Given the description of an element on the screen output the (x, y) to click on. 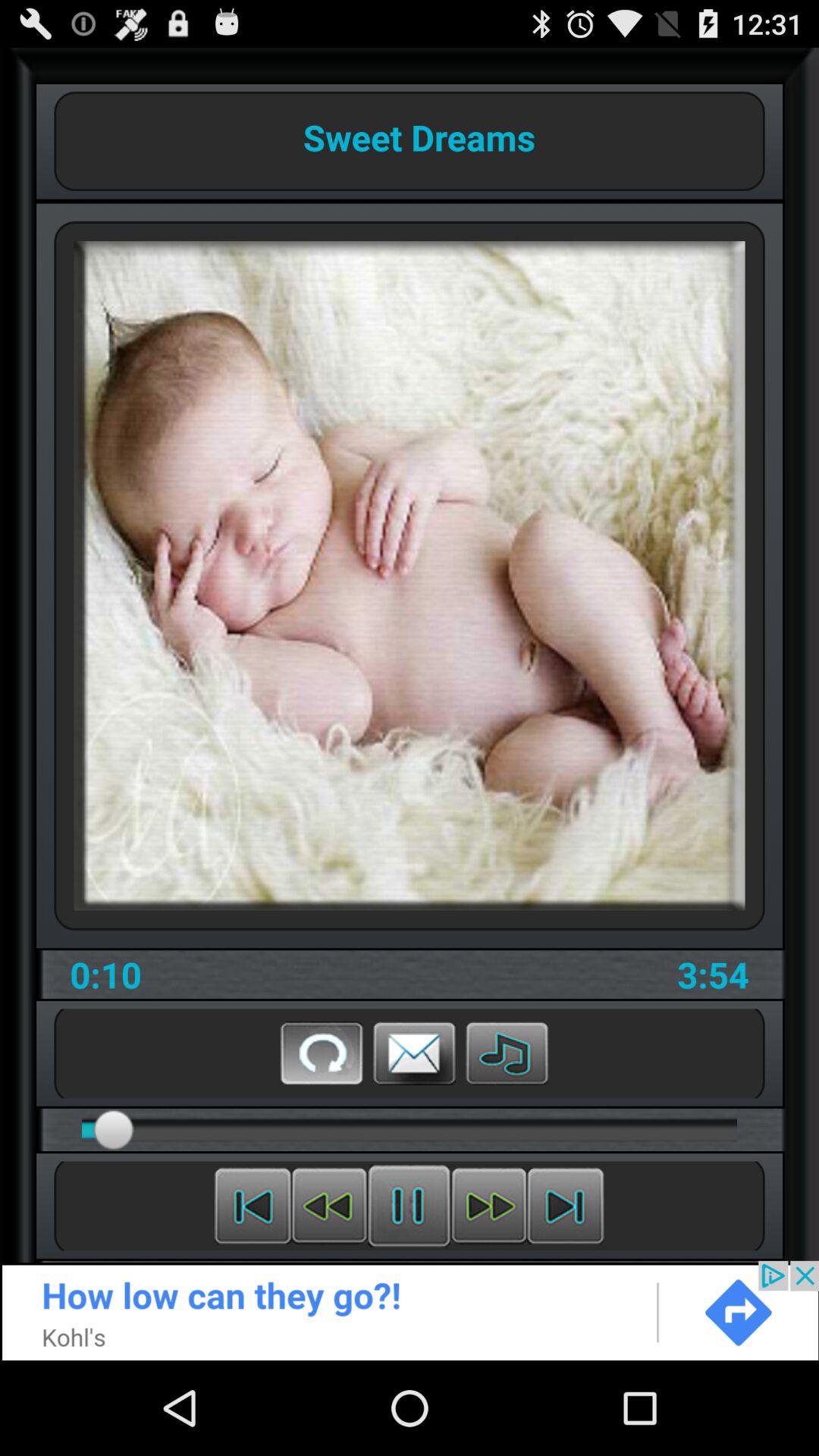
play pause button in the video (408, 1205)
